Given the description of an element on the screen output the (x, y) to click on. 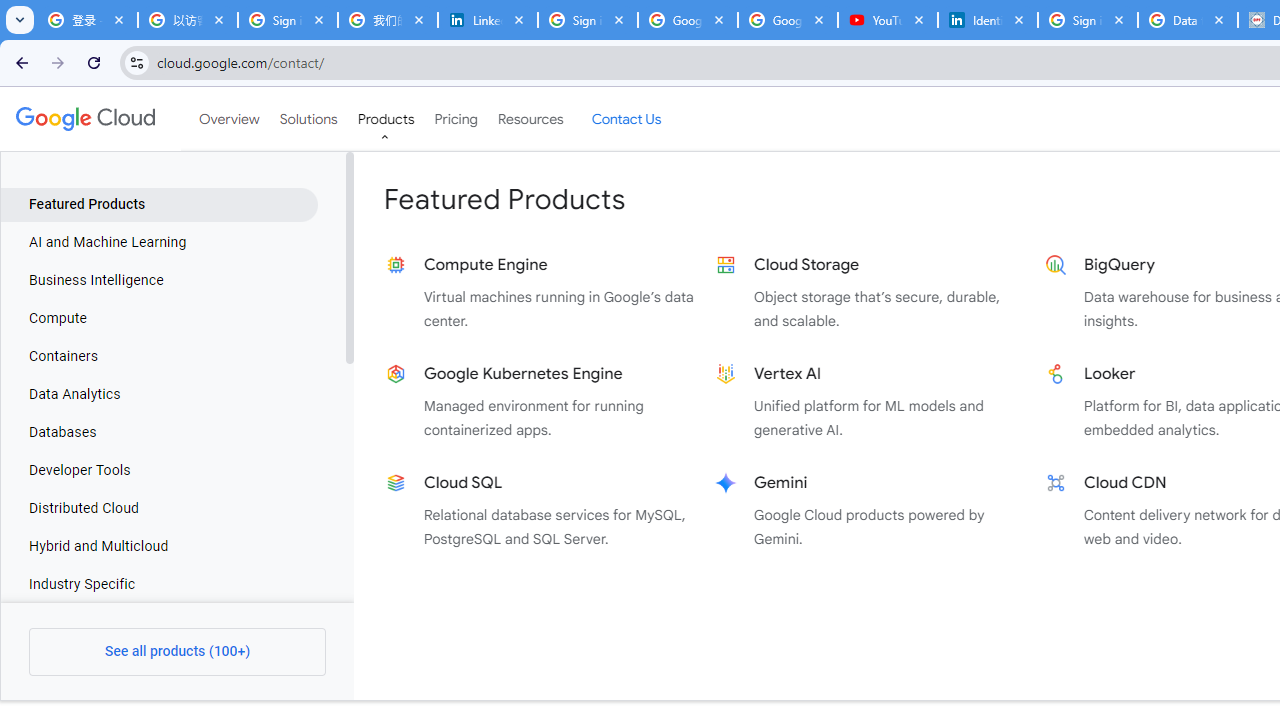
See all products (100+) (177, 651)
Sign in - Google Accounts (1087, 20)
Gemini Google Cloud products powered by Gemini. (870, 510)
Compute (159, 318)
Resources (530, 119)
